Given the description of an element on the screen output the (x, y) to click on. 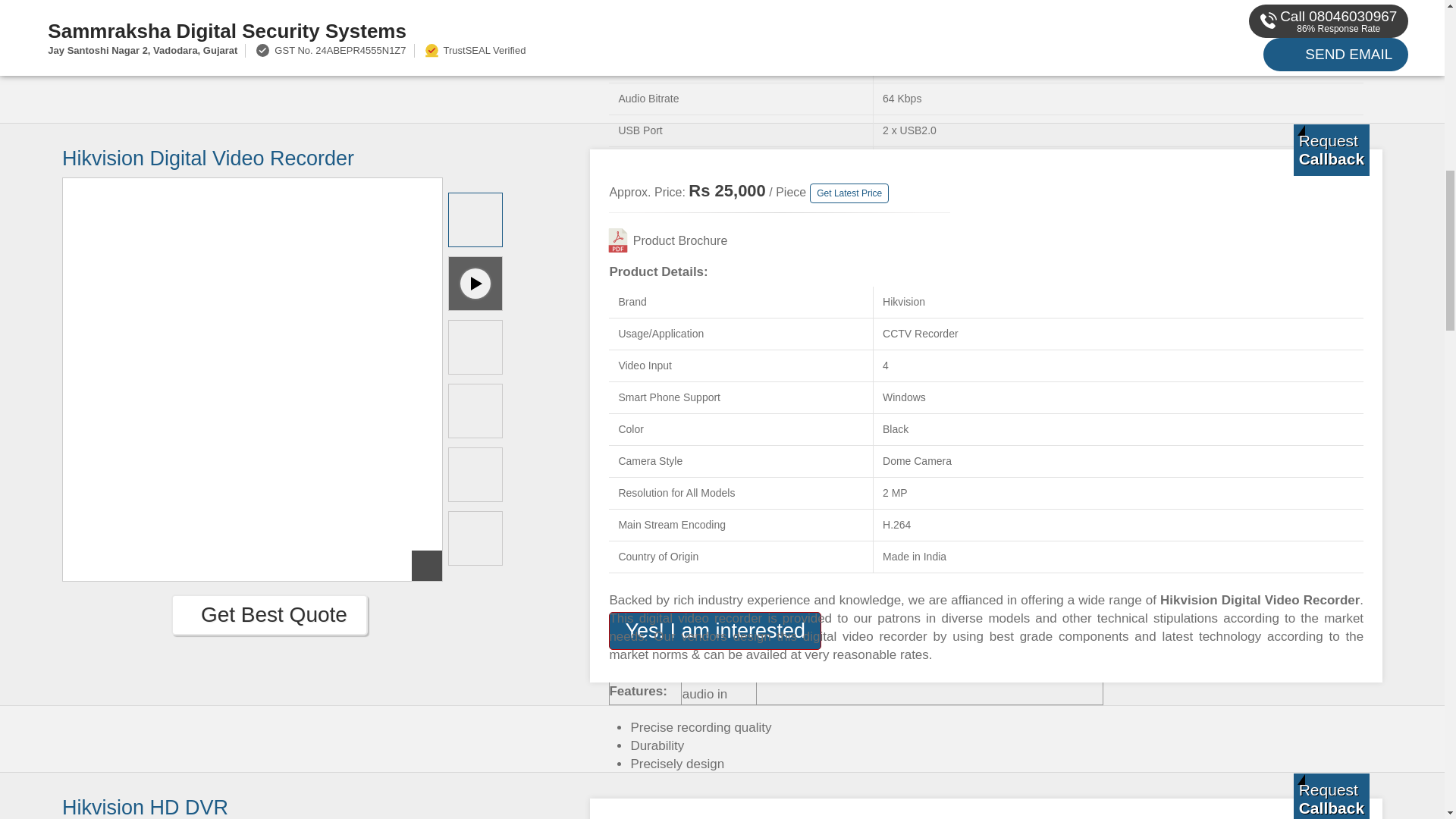
Get a Call from us (1332, 150)
Get a Call from us (1332, 796)
